Given the description of an element on the screen output the (x, y) to click on. 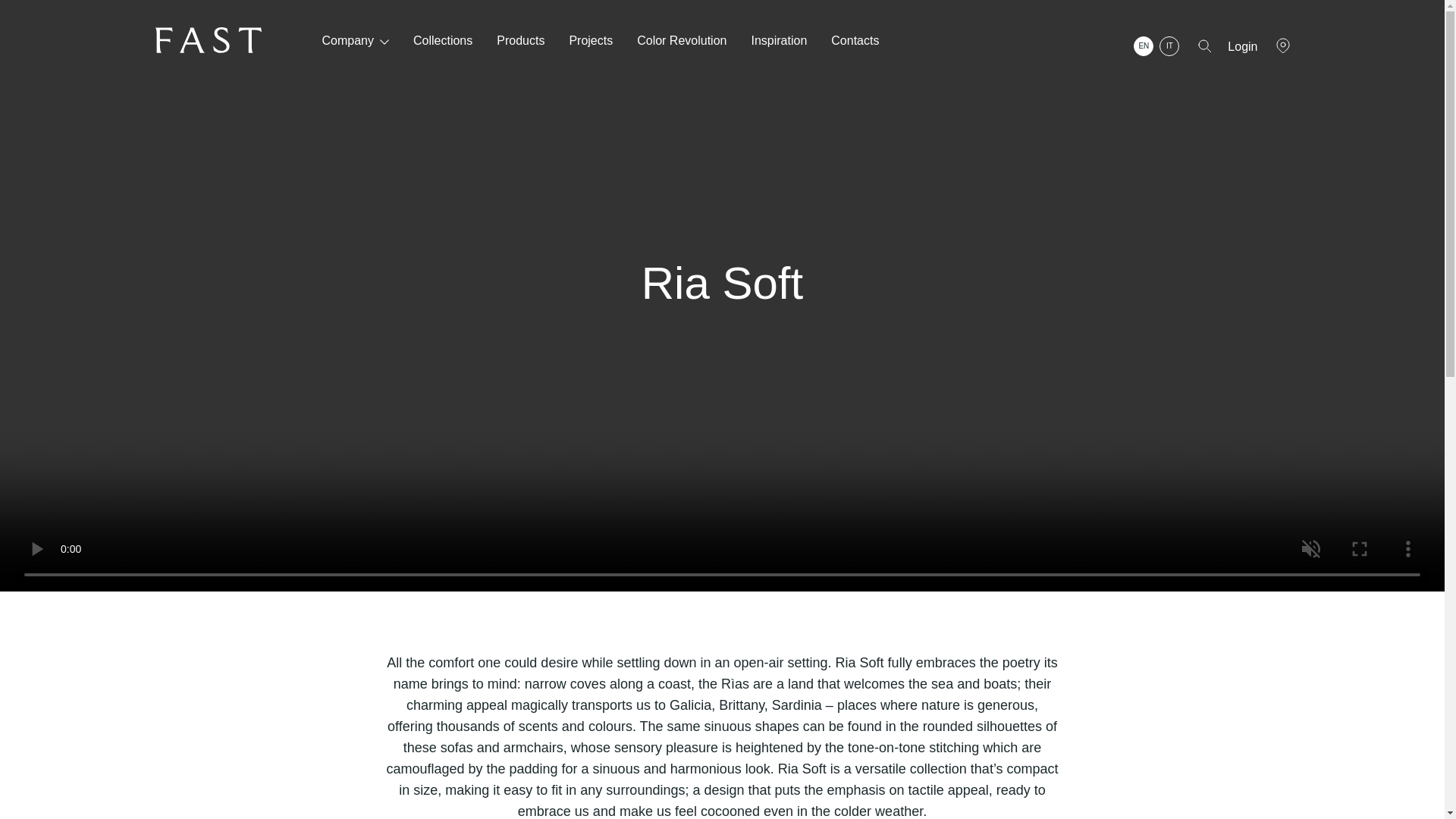
Login (727, 558)
Inspiration (778, 40)
Projects (590, 40)
Color Revolution (681, 40)
Products (520, 40)
Collections (442, 40)
